Given the description of an element on the screen output the (x, y) to click on. 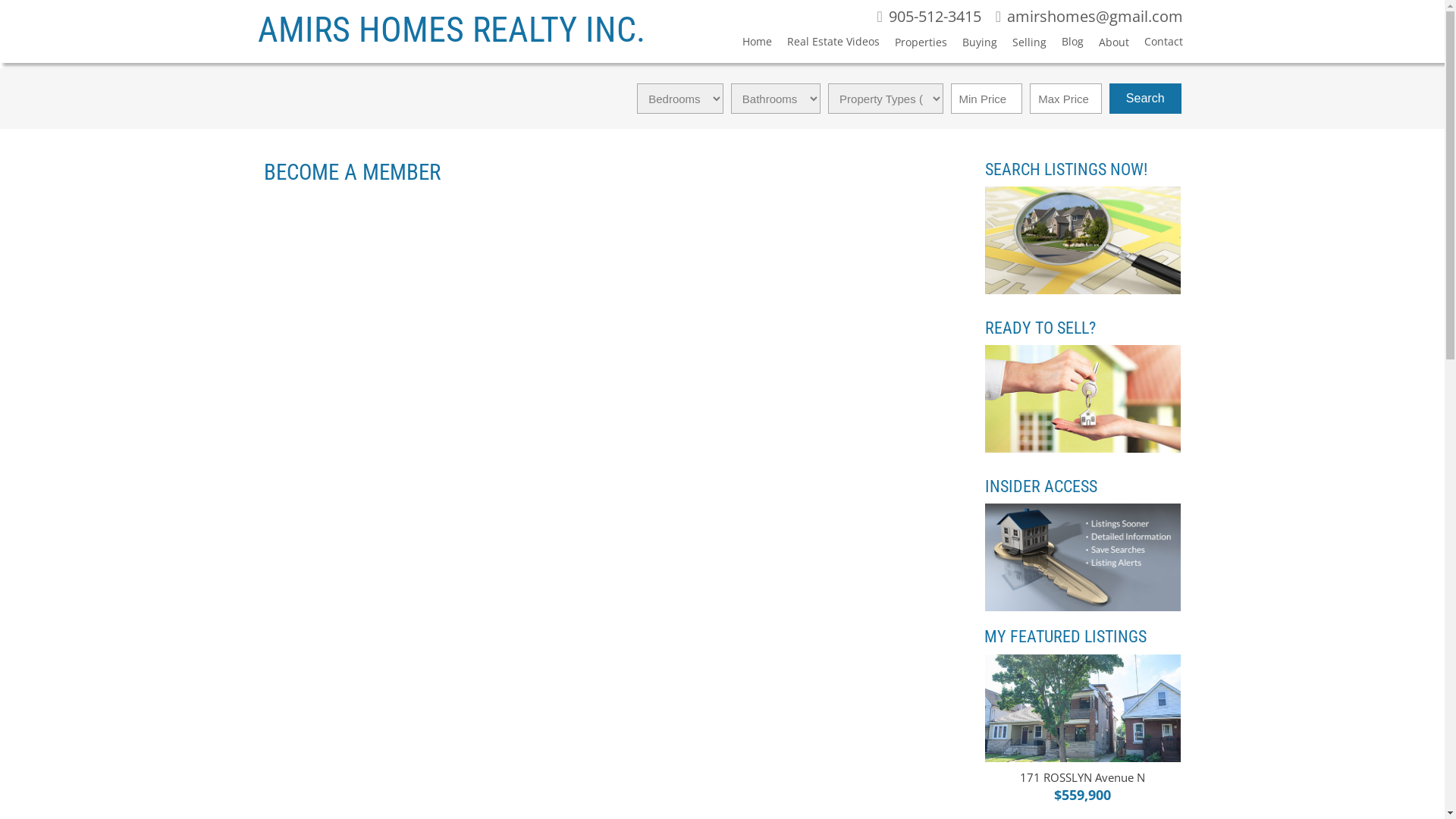
About Element type: text (1106, 44)
Buying Element type: text (972, 44)
amirshomes@gmail.com Element type: text (1089, 17)
Contact Element type: text (1156, 44)
Blog Element type: text (1064, 44)
Search Element type: text (1145, 98)
905-512-3415 Element type: text (928, 17)
Real Estate Videos Element type: text (825, 44)
Properties Element type: text (913, 44)
Home Element type: text (749, 44)
Selling Element type: text (1021, 44)
